Given the description of an element on the screen output the (x, y) to click on. 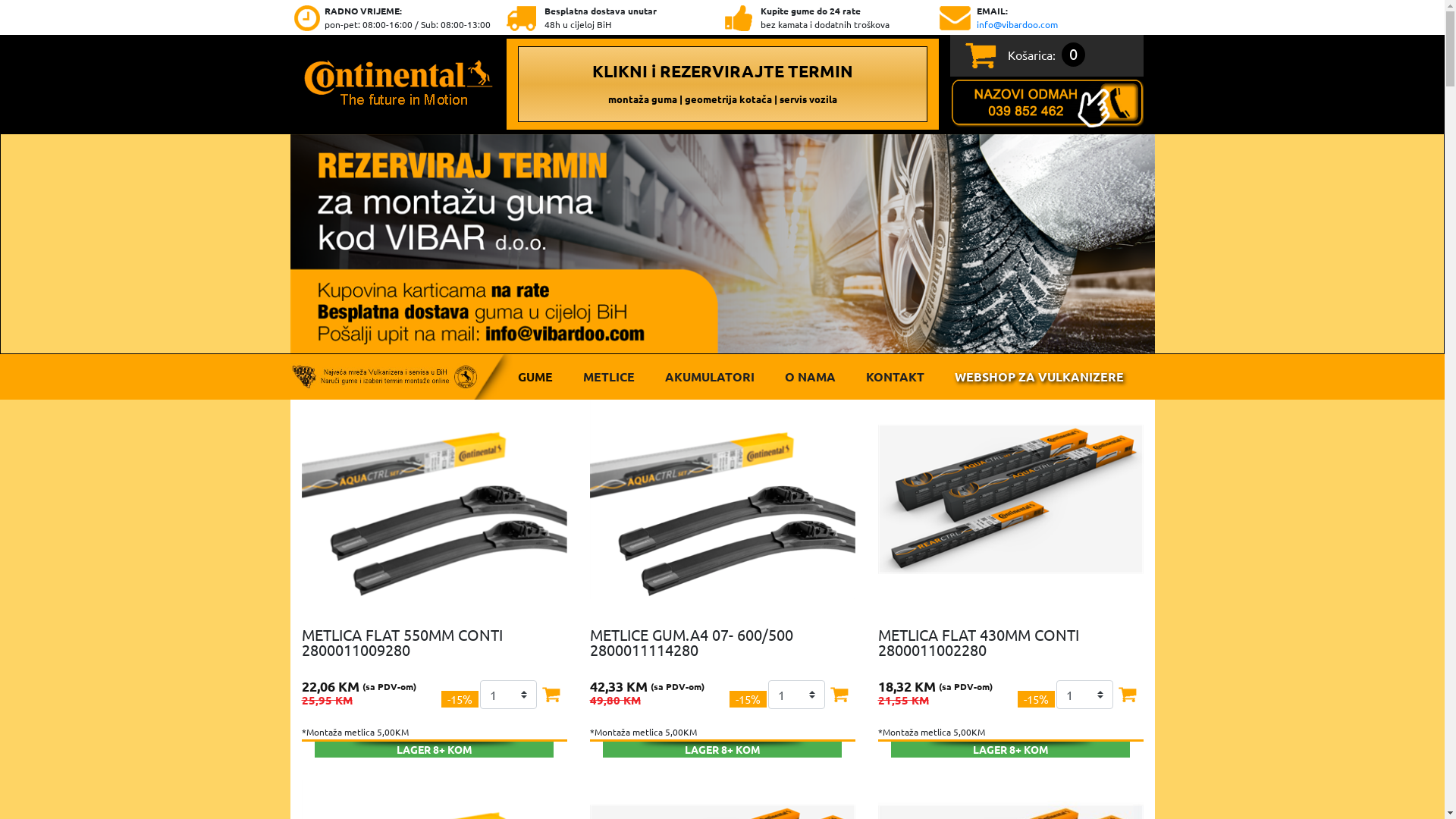
info@vibardoo.com Element type: text (1016, 24)
O NAMA Element type: text (809, 376)
KONTAKT Element type: text (894, 376)
039 852 462 Element type: hover (1045, 101)
GUME Element type: text (534, 376)
EMAIL:
info@vibardoo.com Element type: text (1046, 17)
WEBSHOP ZA VULKANIZERE Element type: text (1038, 376)
METLICE Element type: text (608, 376)
AKUMULATORI Element type: text (708, 376)
